Given the description of an element on the screen output the (x, y) to click on. 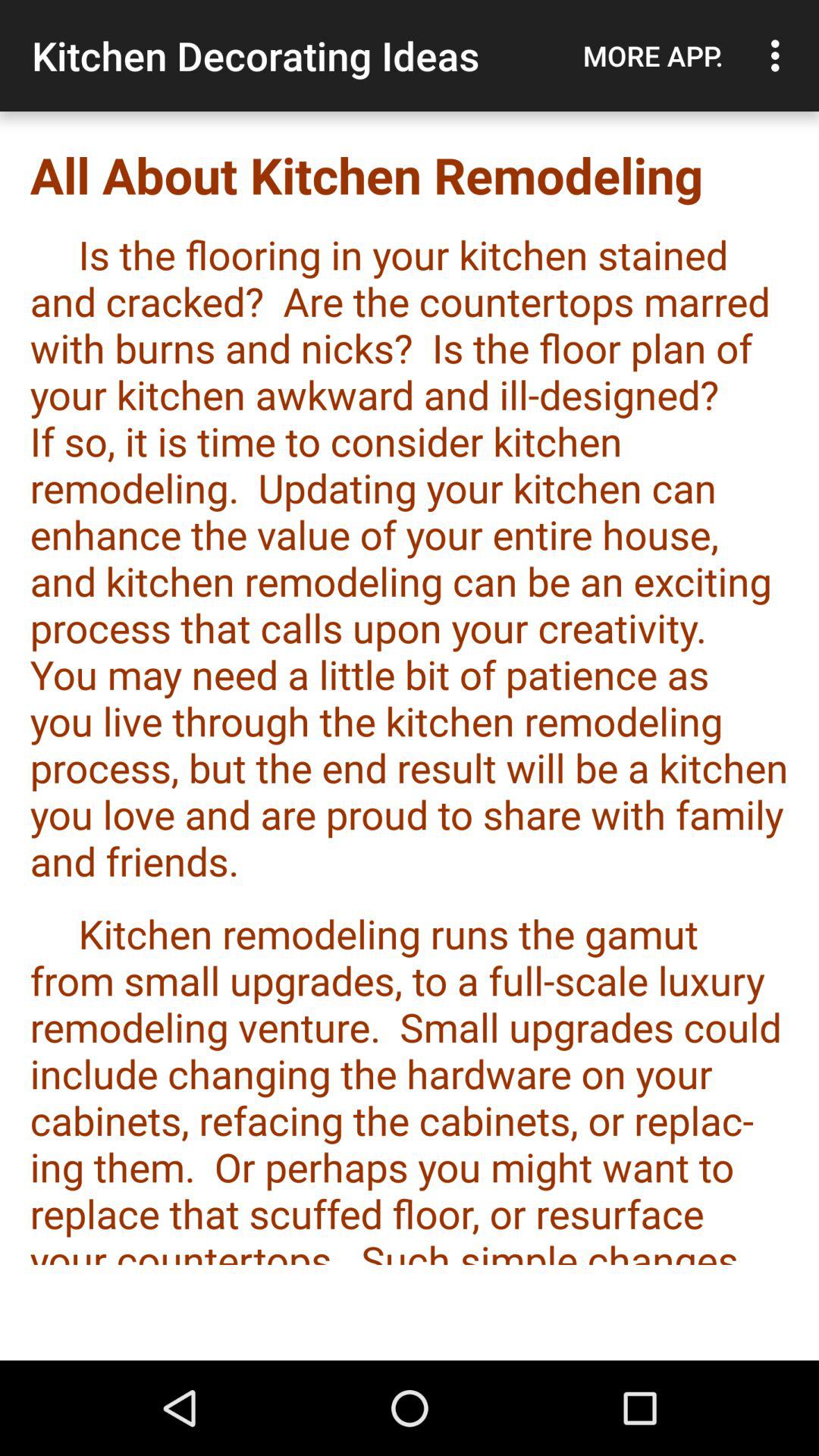
turn off the more app. icon (653, 55)
